Given the description of an element on the screen output the (x, y) to click on. 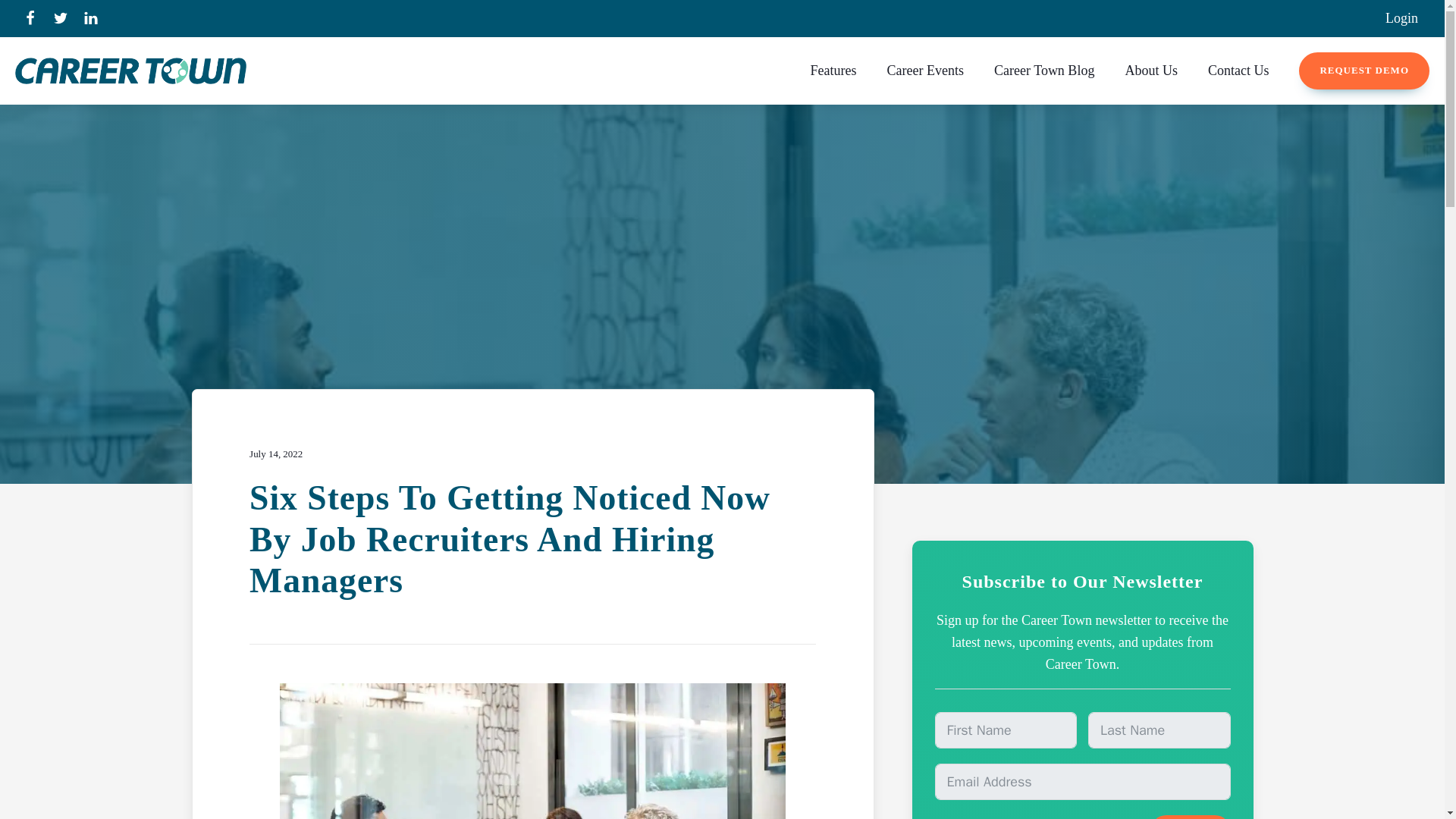
REQUEST DEMO (1363, 70)
Login (1402, 18)
Career Events (925, 70)
Career Town Blog (1043, 70)
About Us (1150, 70)
Subscribe (1190, 816)
Features (833, 70)
Contact Us (1238, 70)
